Given the description of an element on the screen output the (x, y) to click on. 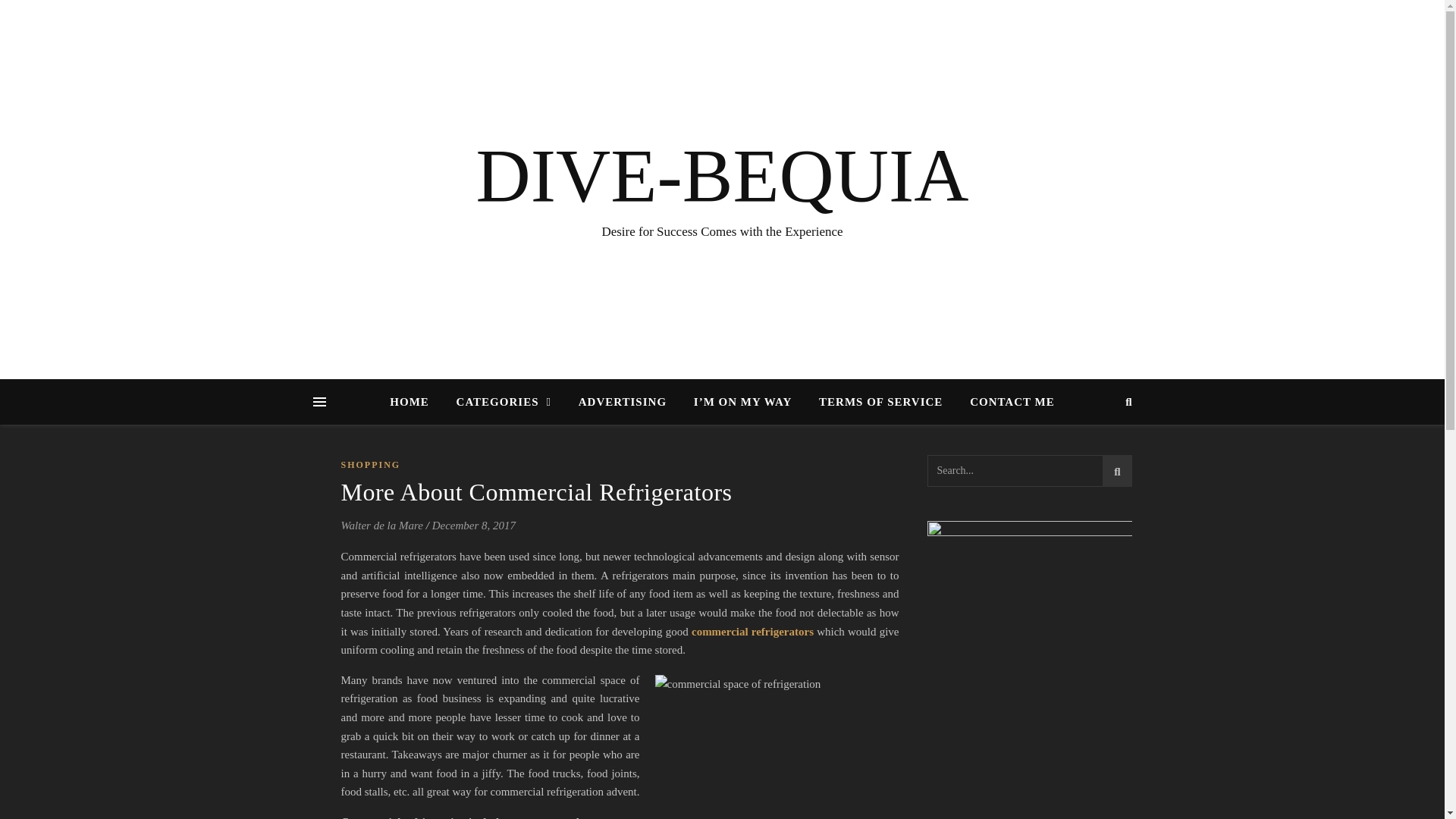
CATEGORIES (503, 402)
SHOPPING (370, 465)
Posts by Walter de la Mare (381, 525)
Walter de la Mare (381, 525)
HOME (415, 402)
ADVERTISING (622, 402)
CONTACT ME (1006, 402)
More About Commercial Refrigerators (536, 492)
TERMS OF SERVICE (880, 402)
commercial refrigerators (752, 631)
